Given the description of an element on the screen output the (x, y) to click on. 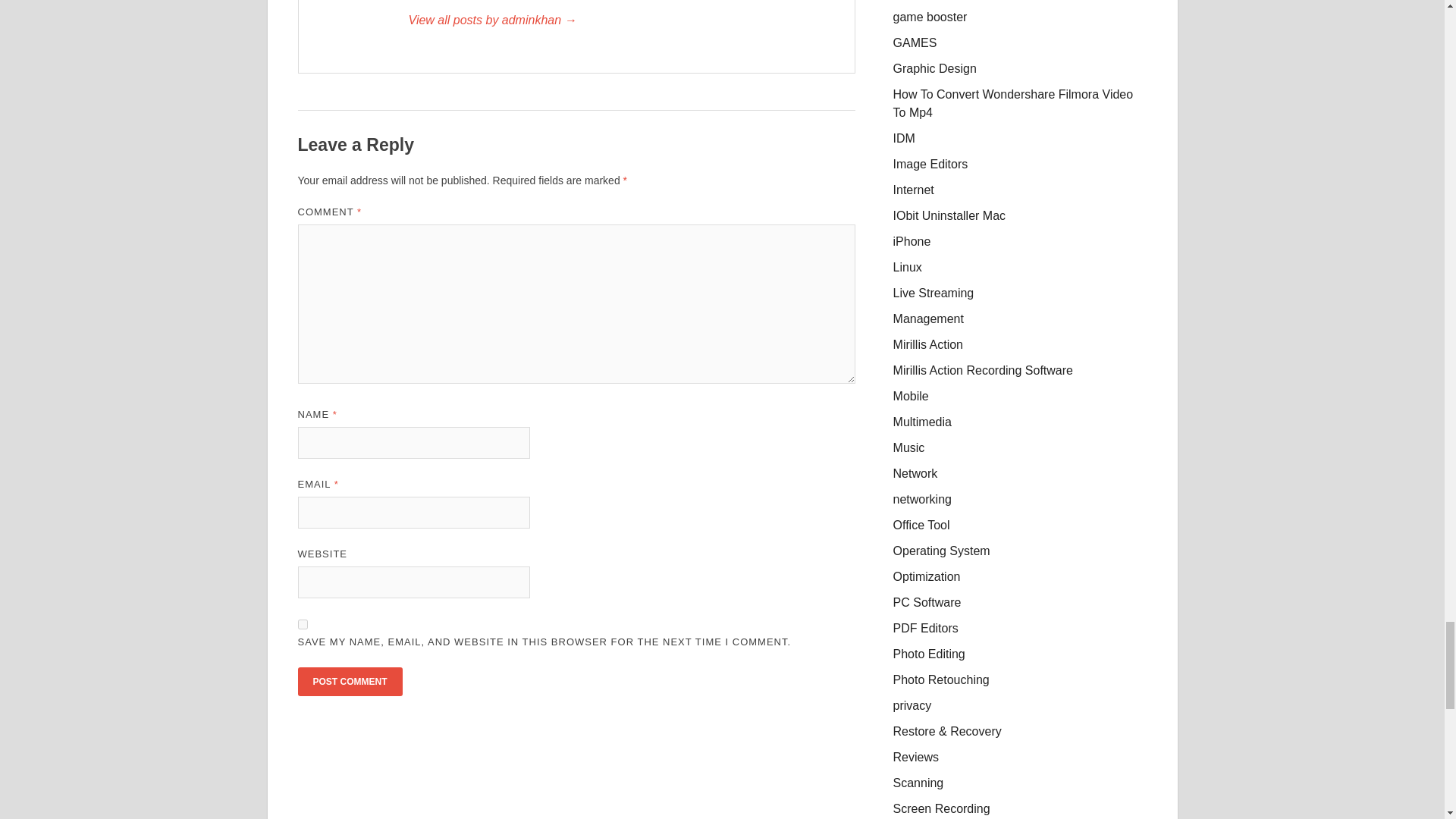
Post Comment (349, 681)
yes (302, 624)
